Given the description of an element on the screen output the (x, y) to click on. 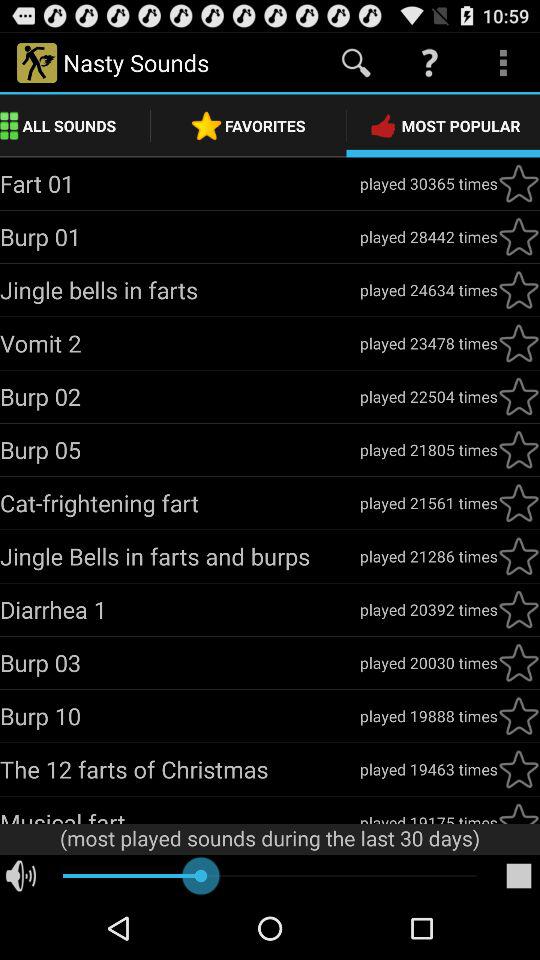
click your favorites (519, 343)
